Given the description of an element on the screen output the (x, y) to click on. 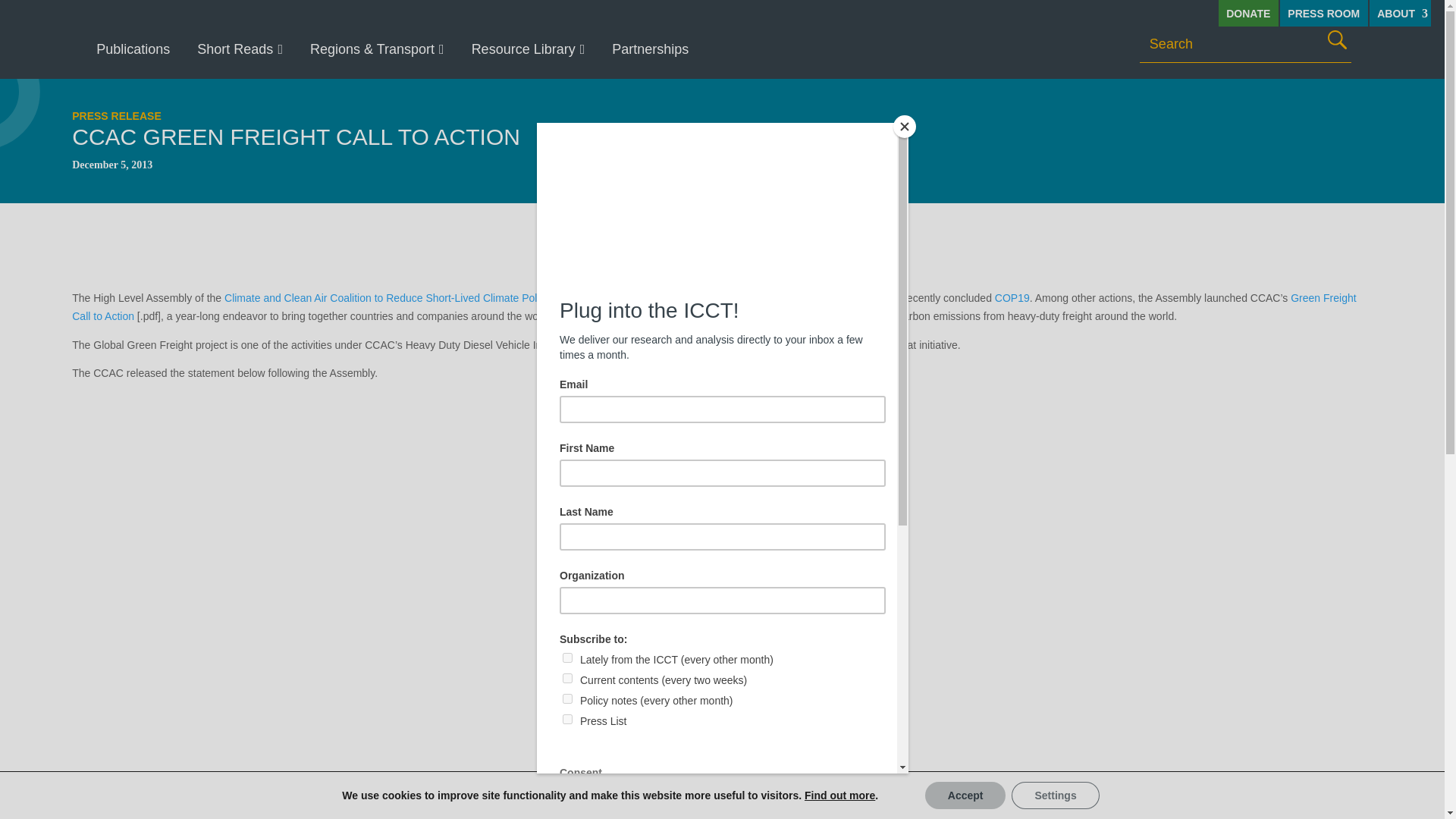
Search (1337, 40)
DONATE (1248, 13)
Search (1337, 40)
Short Reads (240, 48)
Publications (132, 48)
ABOUT (1400, 13)
PRESS ROOM (1323, 13)
